Given the description of an element on the screen output the (x, y) to click on. 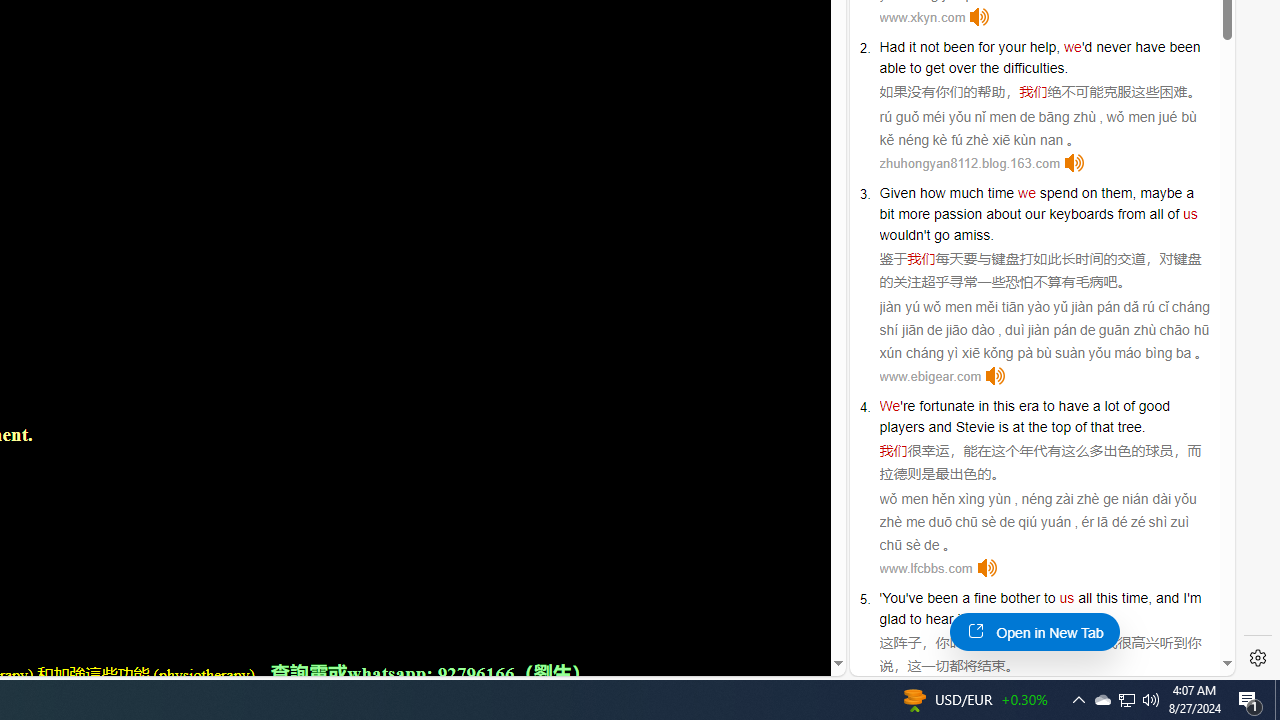
a (966, 597)
on (1089, 192)
the (989, 67)
lot (1111, 405)
glad (892, 619)
